Given the description of an element on the screen output the (x, y) to click on. 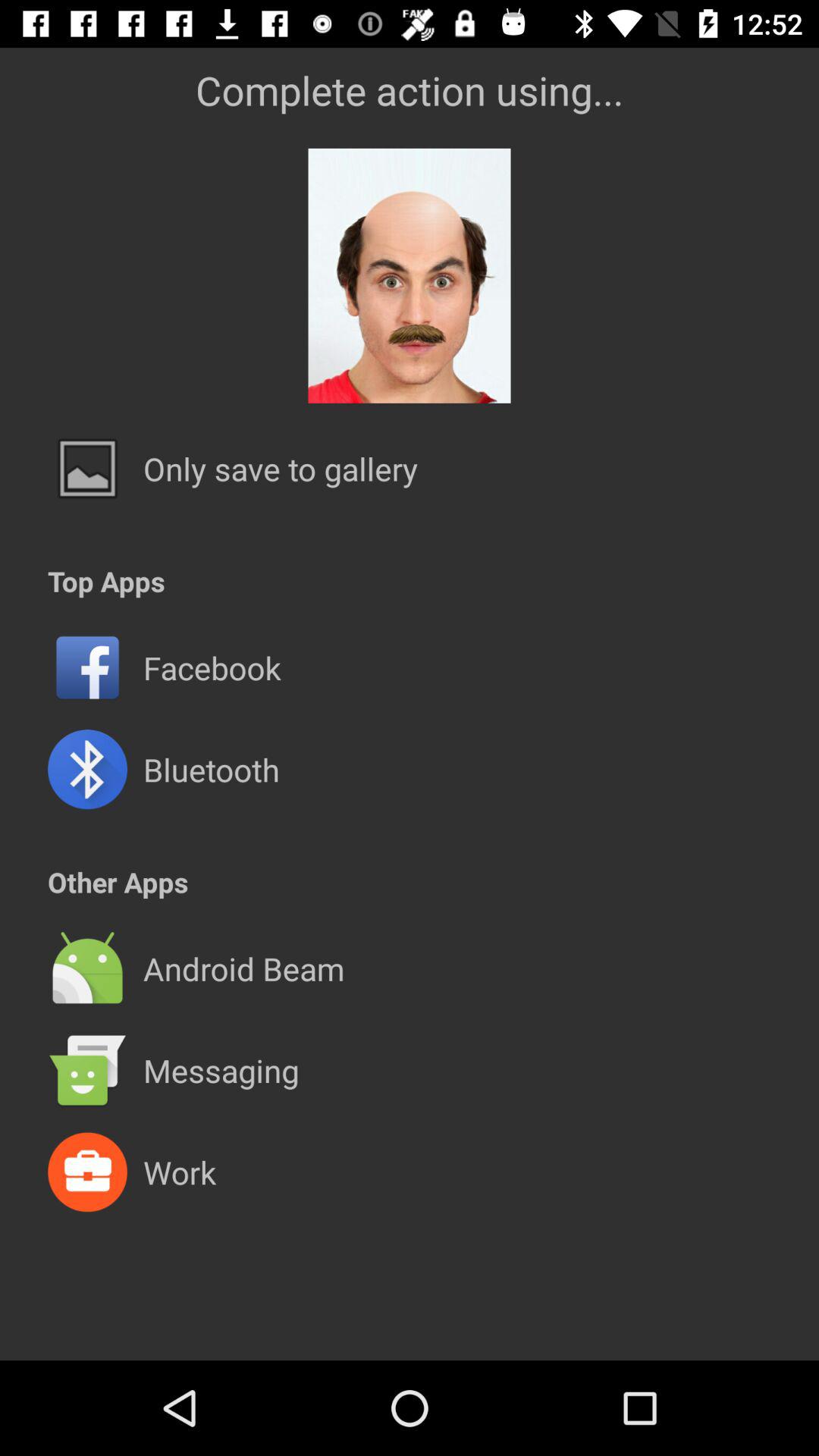
select the item above the other apps icon (211, 769)
